Given the description of an element on the screen output the (x, y) to click on. 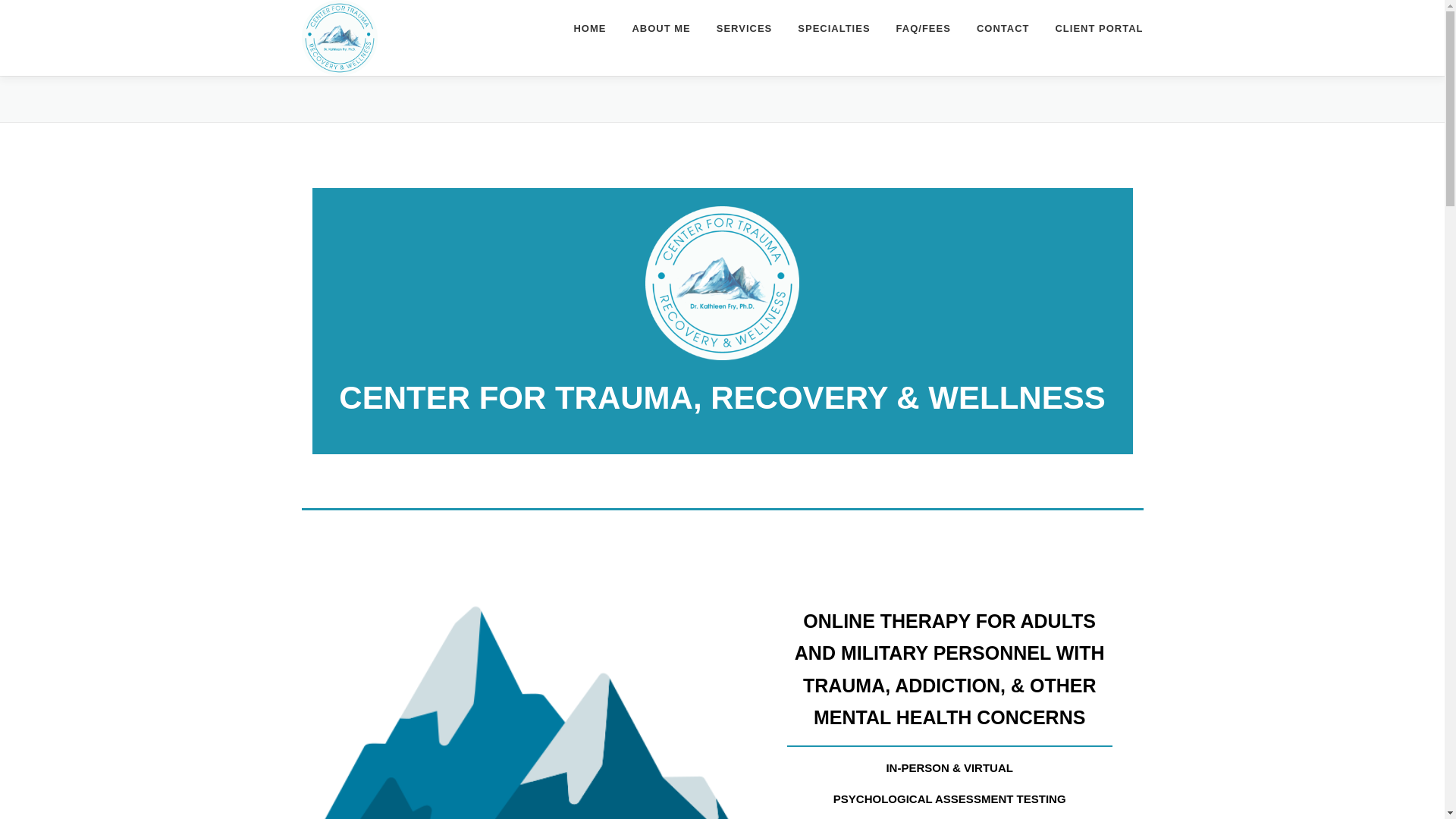
CLIENT PORTAL (1092, 28)
ABOUT ME (660, 28)
CONTACT (1002, 28)
SPECIALTIES (833, 28)
HOME (589, 28)
SERVICES (744, 28)
